Given the description of an element on the screen output the (x, y) to click on. 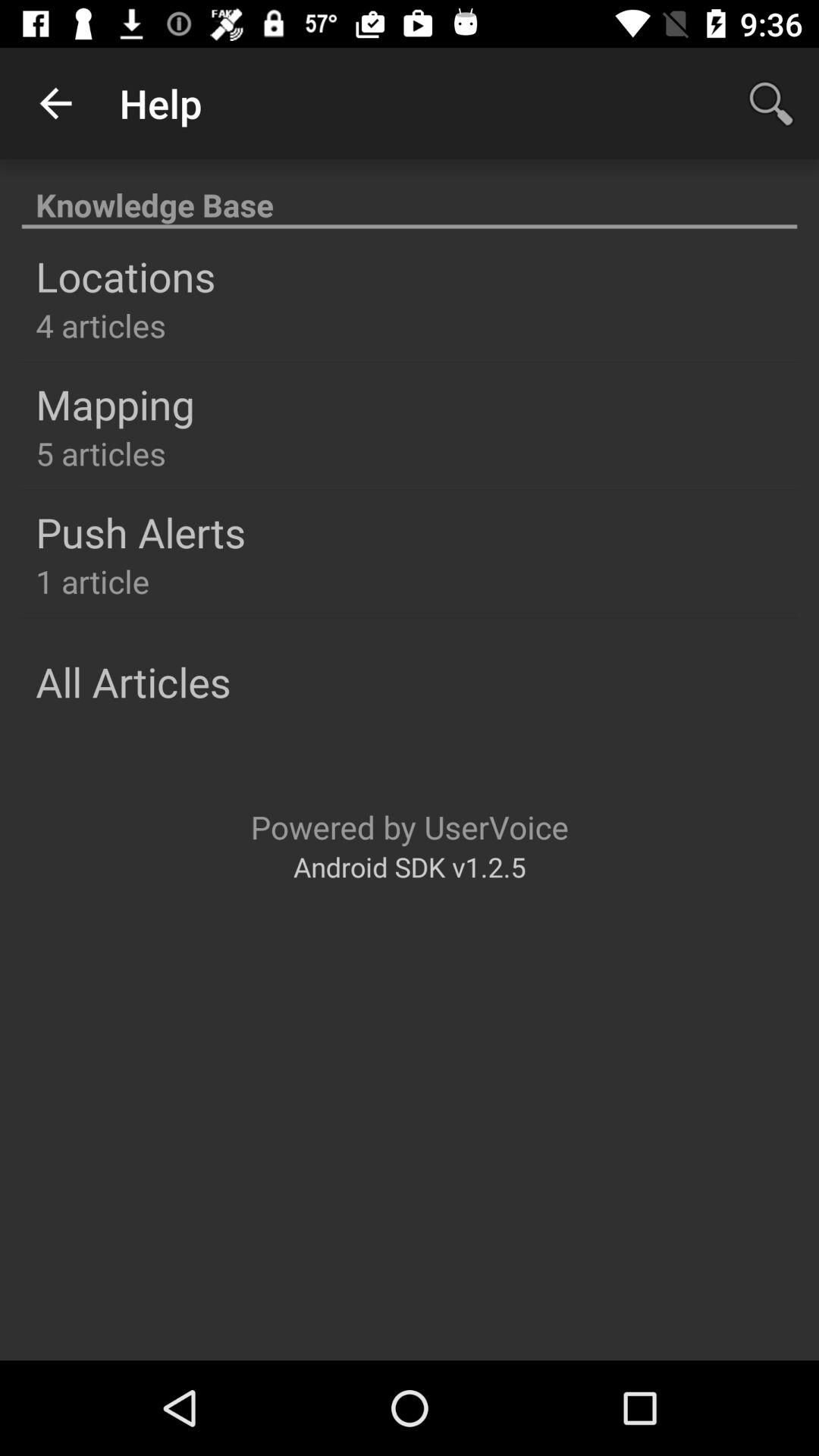
jump to the android sdk v1 icon (409, 866)
